Given the description of an element on the screen output the (x, y) to click on. 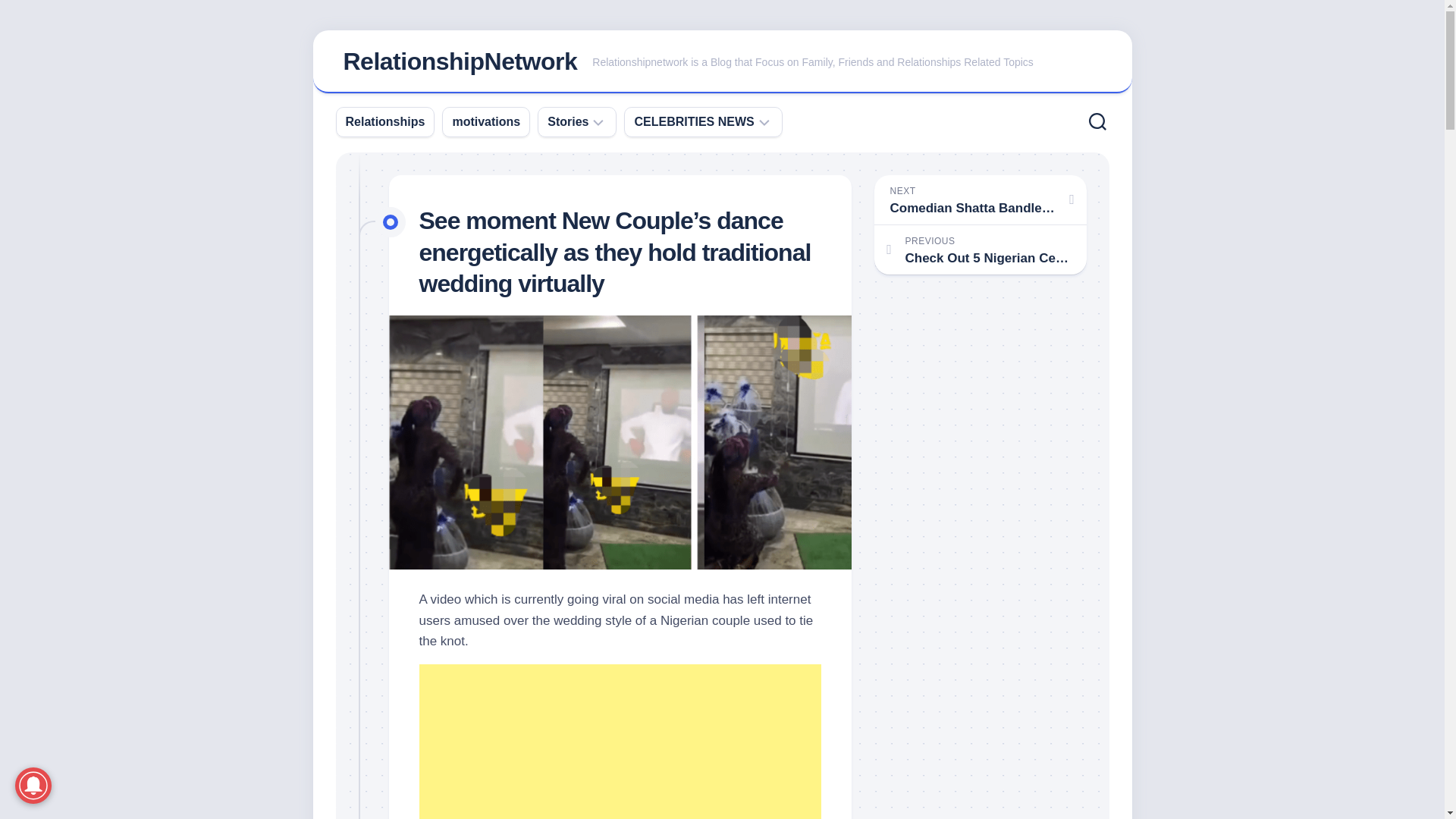
motivations (485, 121)
Advertisement (620, 741)
RelationshipNetwork (459, 61)
CELEBRITIES NEWS (693, 121)
Relationships (385, 121)
Stories (567, 121)
